Given the description of an element on the screen output the (x, y) to click on. 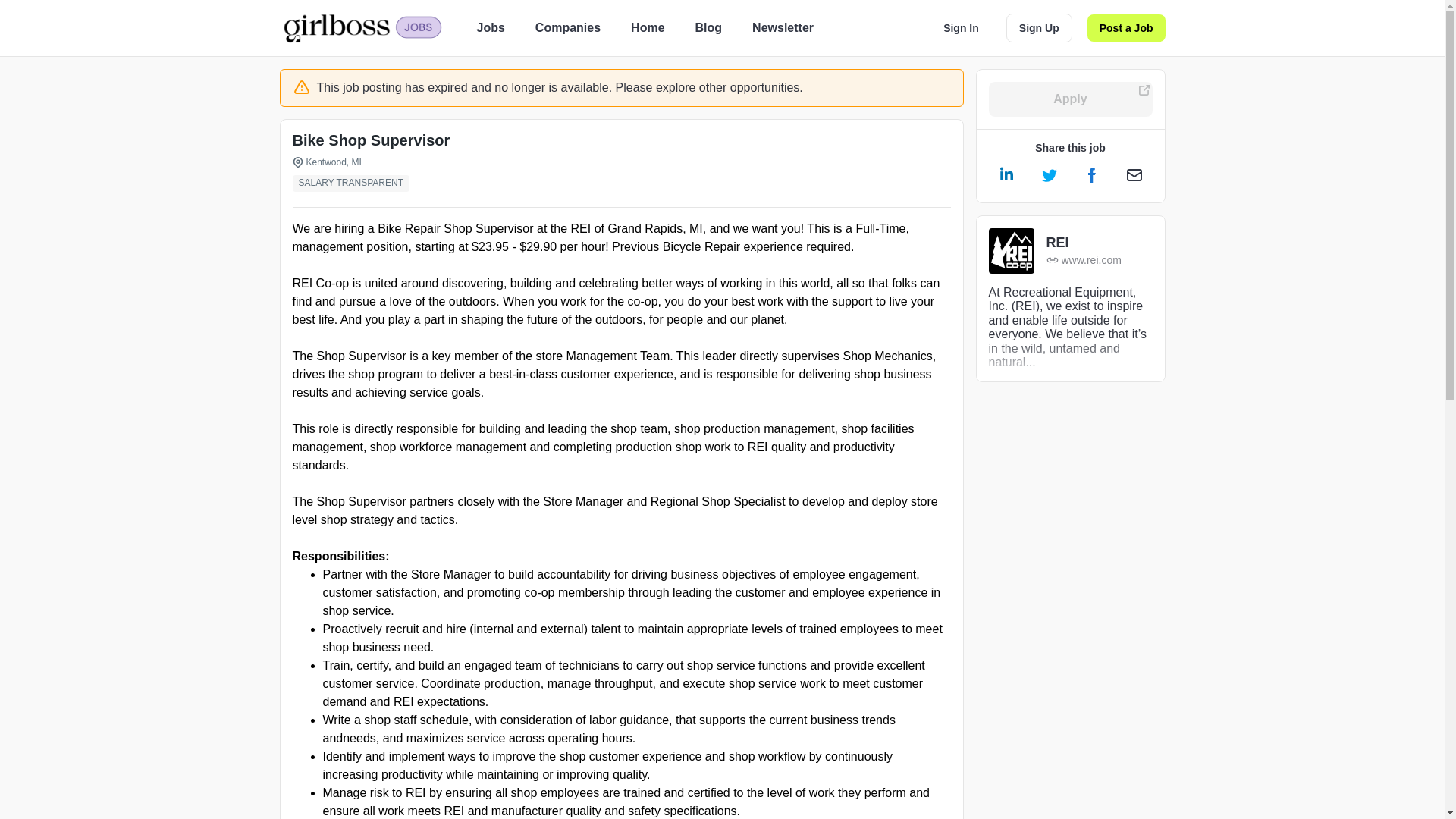
REI (1083, 242)
Post a Job (1126, 27)
SALARY TRANSPARENT (354, 182)
Sign In (961, 27)
Newsletter (782, 27)
Home (646, 27)
Companies (567, 27)
Jobs (489, 27)
Blog (708, 27)
www.rei.com (1083, 259)
Sign Up (1038, 27)
Apply (1070, 99)
